Given the description of an element on the screen output the (x, y) to click on. 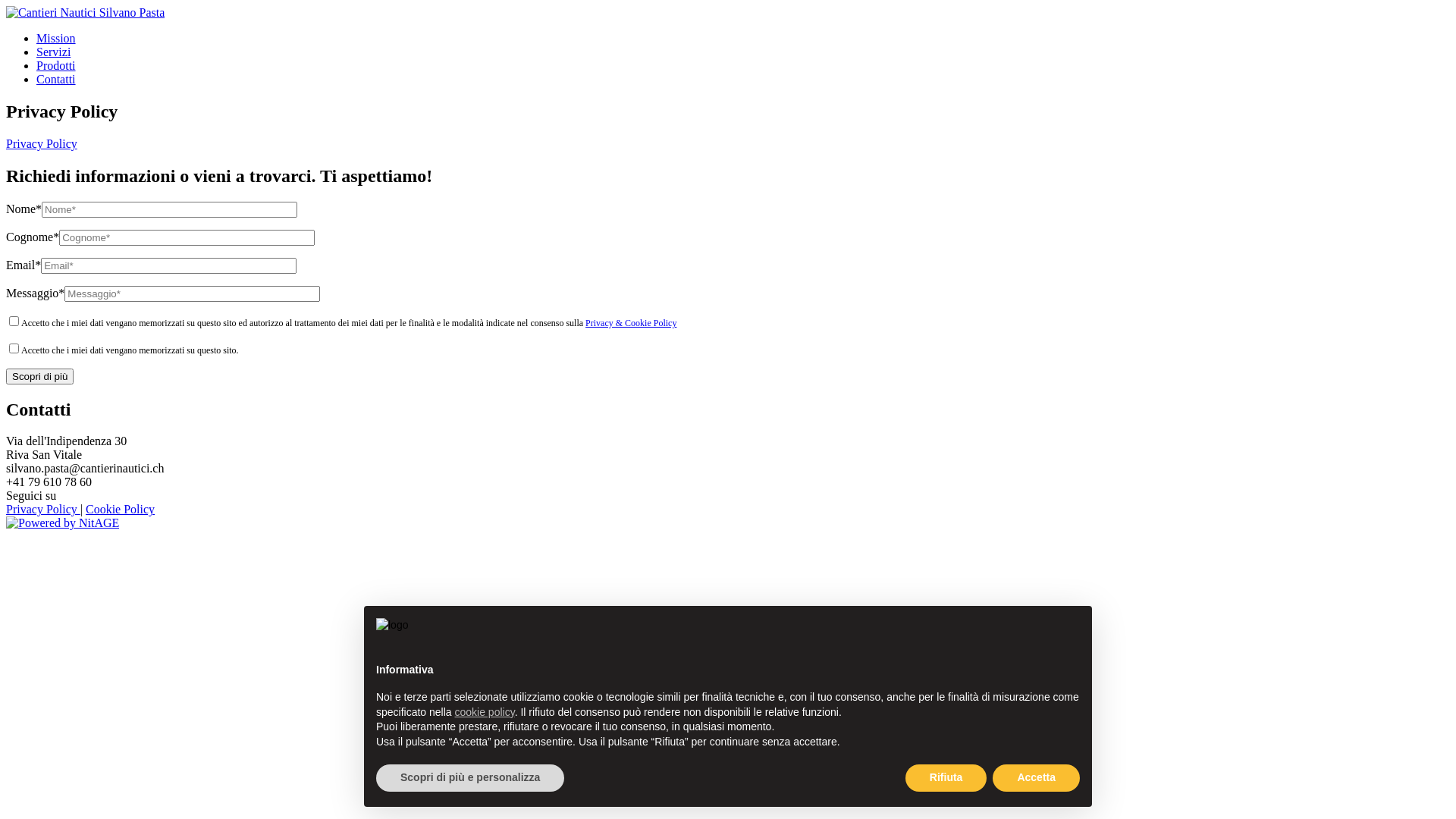
Accetta Element type: text (1035, 777)
Privacy & Cookie Policy Element type: text (630, 322)
Contatti Element type: text (55, 78)
Privacy Policy Element type: text (41, 143)
Prodotti Element type: text (55, 65)
Privacy Policy Element type: text (43, 508)
Rifiuta Element type: text (946, 777)
Mission Element type: text (55, 37)
Servizi Element type: text (53, 51)
cookie policy Element type: text (484, 712)
Cookie Policy Element type: text (119, 508)
Powered by NitAGE Element type: hover (62, 522)
